Given the description of an element on the screen output the (x, y) to click on. 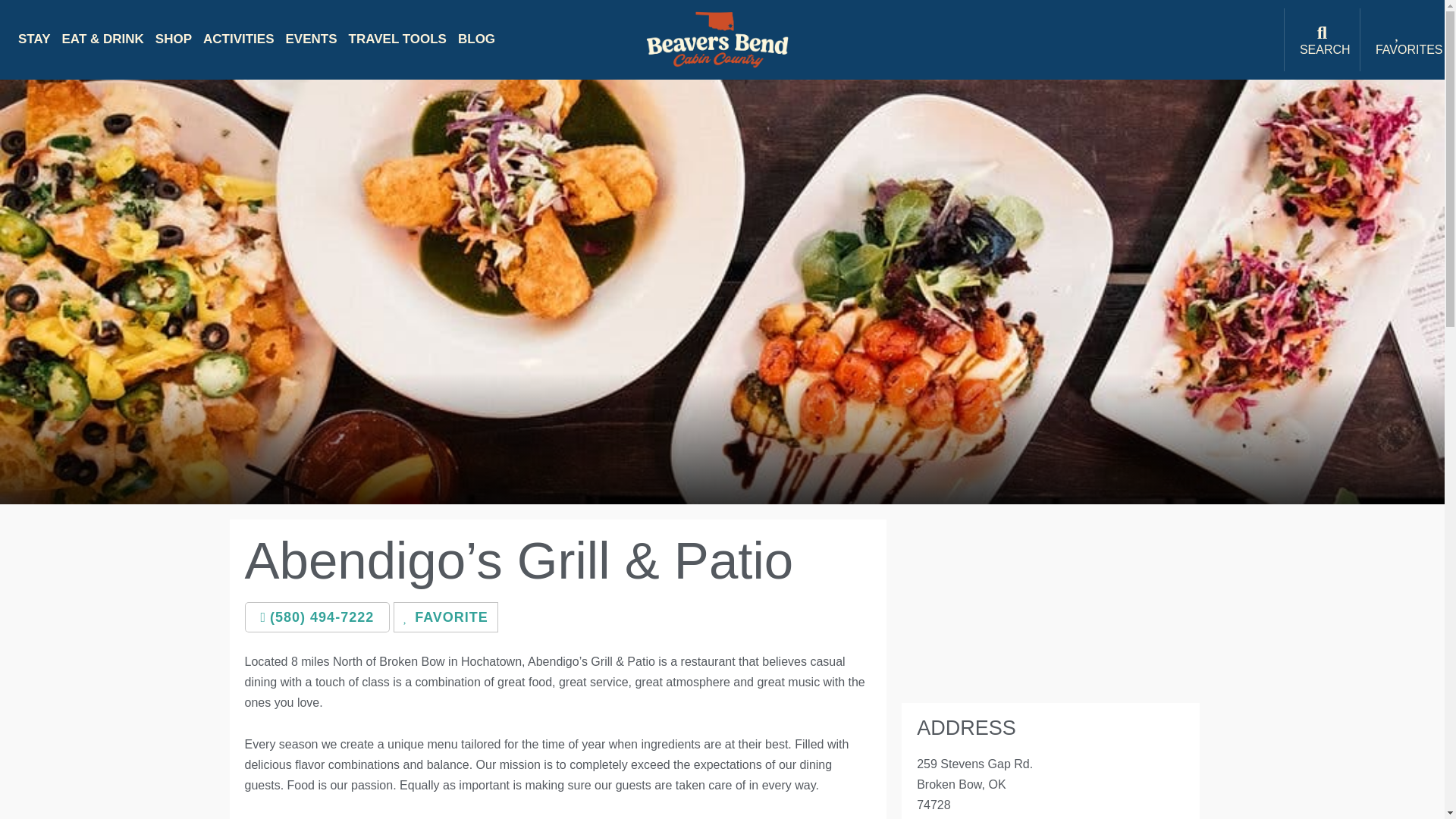
FAVORITES (1408, 49)
SHOP (173, 39)
BLOG (475, 39)
STAY (33, 39)
SEARCH (1325, 49)
ACTIVITIES (239, 39)
EVENTS (311, 39)
TRAVEL TOOLS (397, 39)
